Given the description of an element on the screen output the (x, y) to click on. 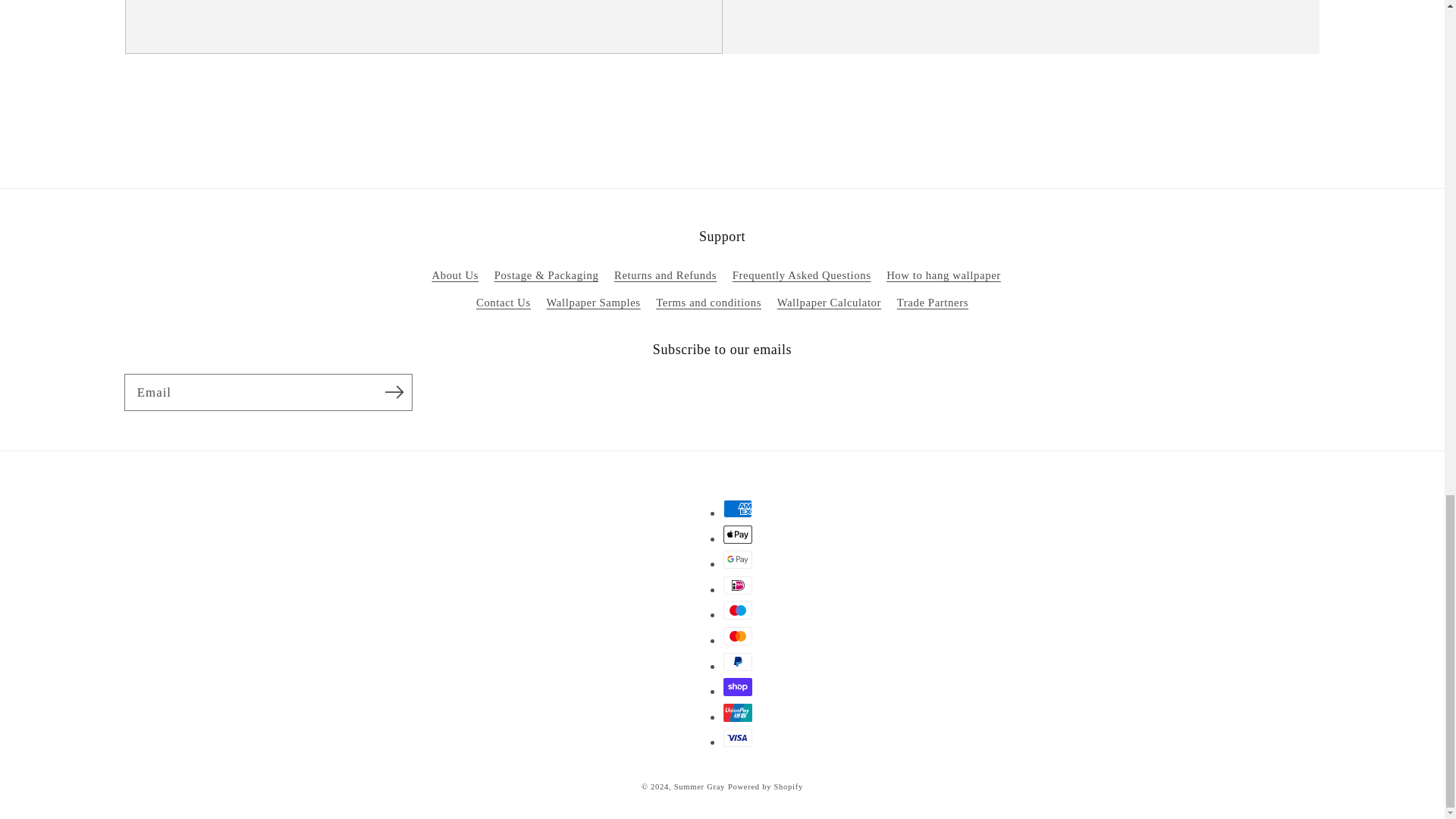
Maestro (737, 610)
iDEAL (737, 585)
Shop Pay (737, 687)
American Express (737, 508)
Apple Pay (737, 534)
PayPal (737, 661)
Visa (737, 737)
Mastercard (737, 636)
Google Pay (737, 559)
Union Pay (737, 712)
